Given the description of an element on the screen output the (x, y) to click on. 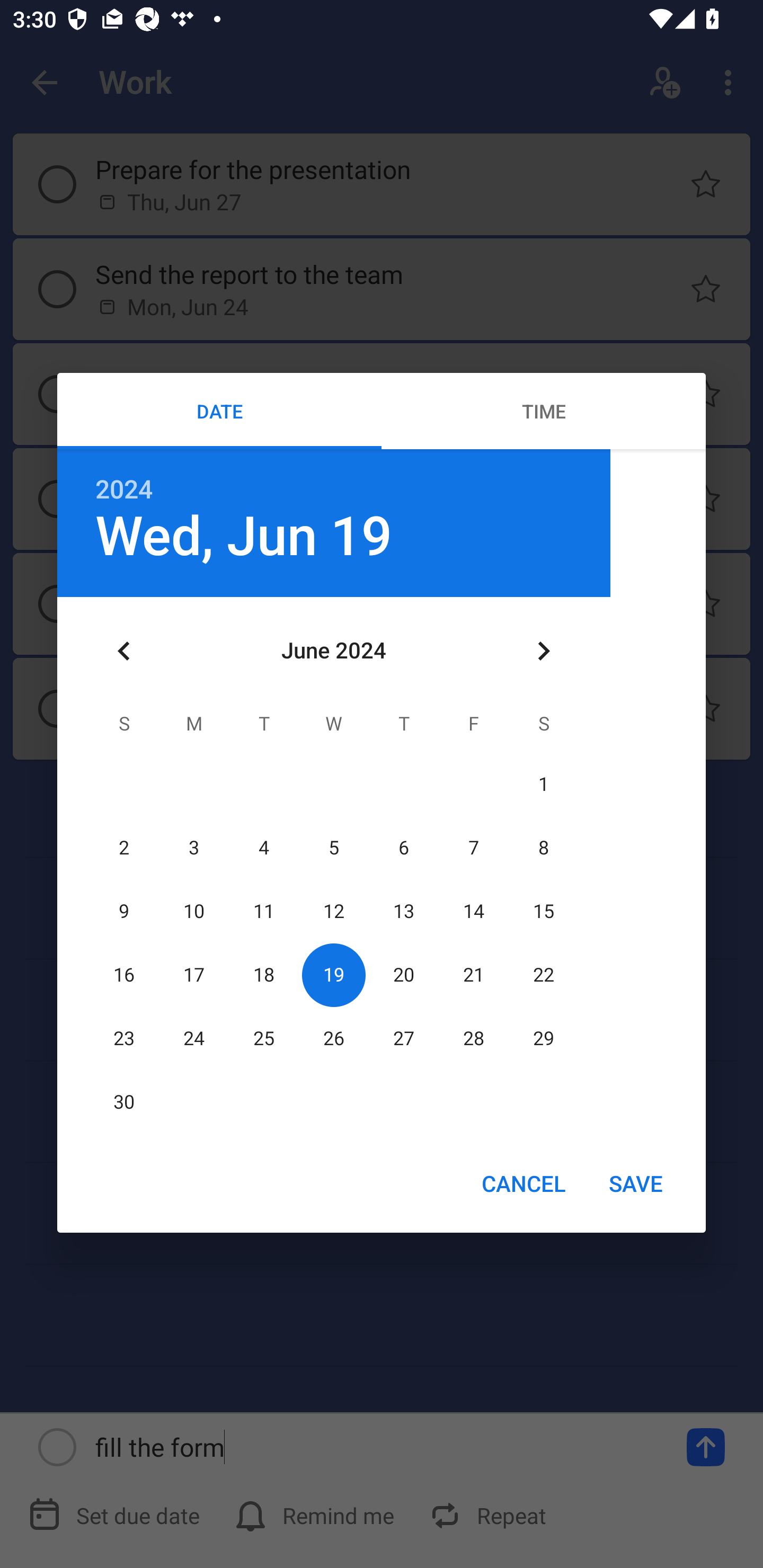
Time TIME (543, 410)
